Given the description of an element on the screen output the (x, y) to click on. 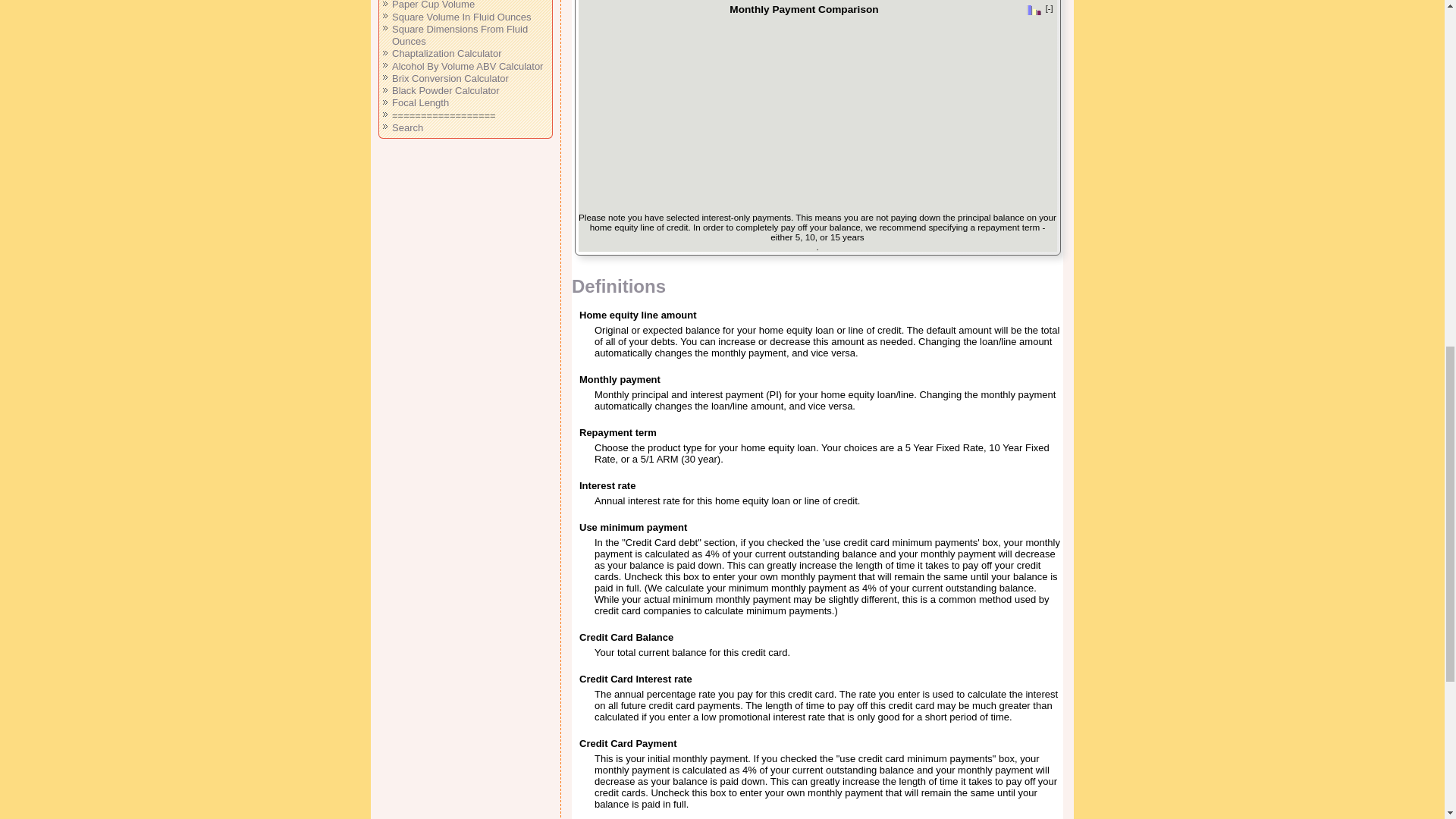
Brix Conversion Calculator (449, 78)
Square Volume In Fluid Ounces (461, 16)
Search (407, 127)
Black Powder Calculator (445, 90)
Square Dimensions From Fluid Ounces (459, 34)
Focal Length (419, 102)
Paper Cup Volume (432, 4)
Alcohol By Volume ABV Calculator (467, 66)
Chaptalization Calculator (446, 52)
